Given the description of an element on the screen output the (x, y) to click on. 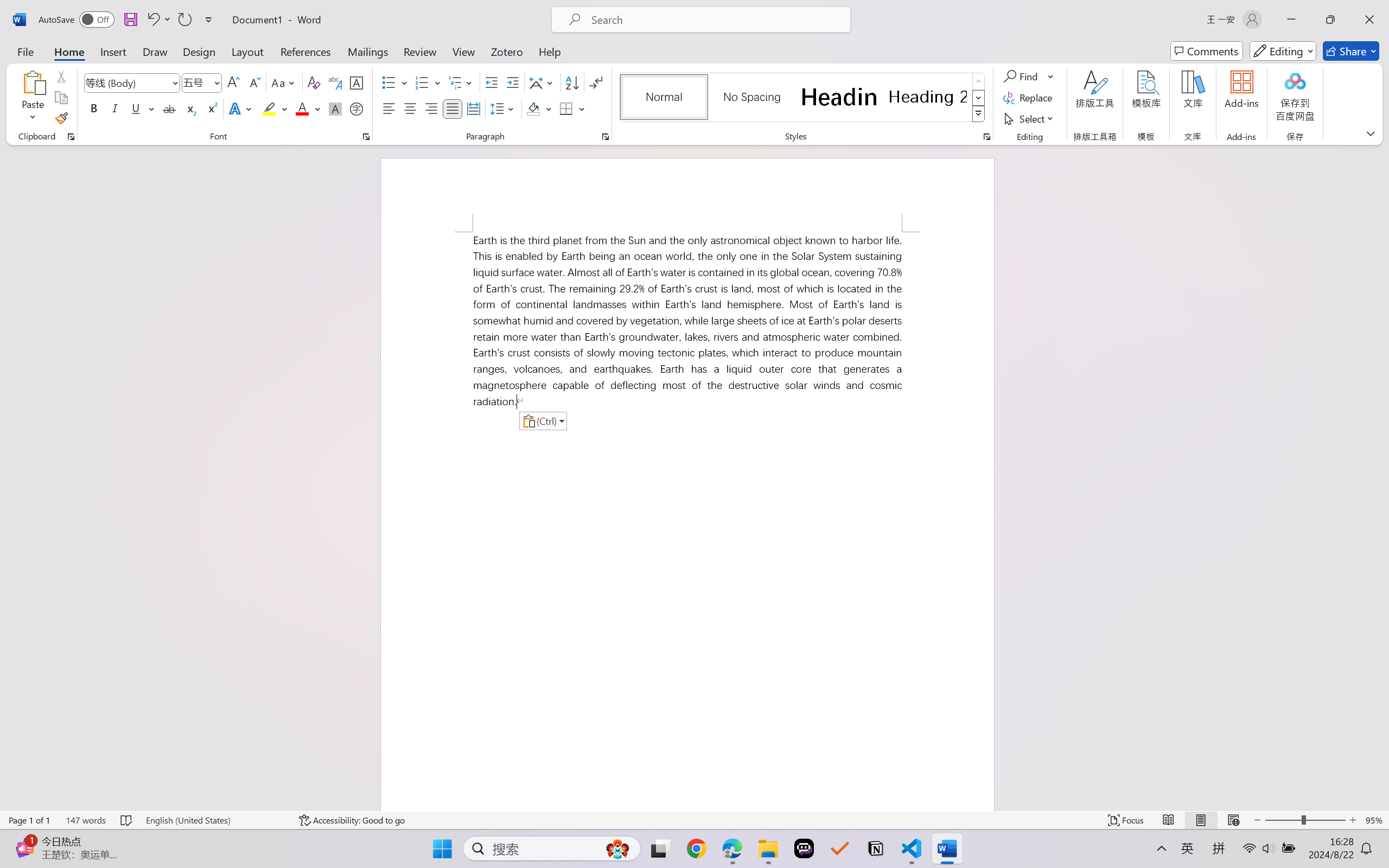
Justify (452, 108)
Bold (94, 108)
Strikethrough (169, 108)
Replace... (1029, 97)
